Given the description of an element on the screen output the (x, y) to click on. 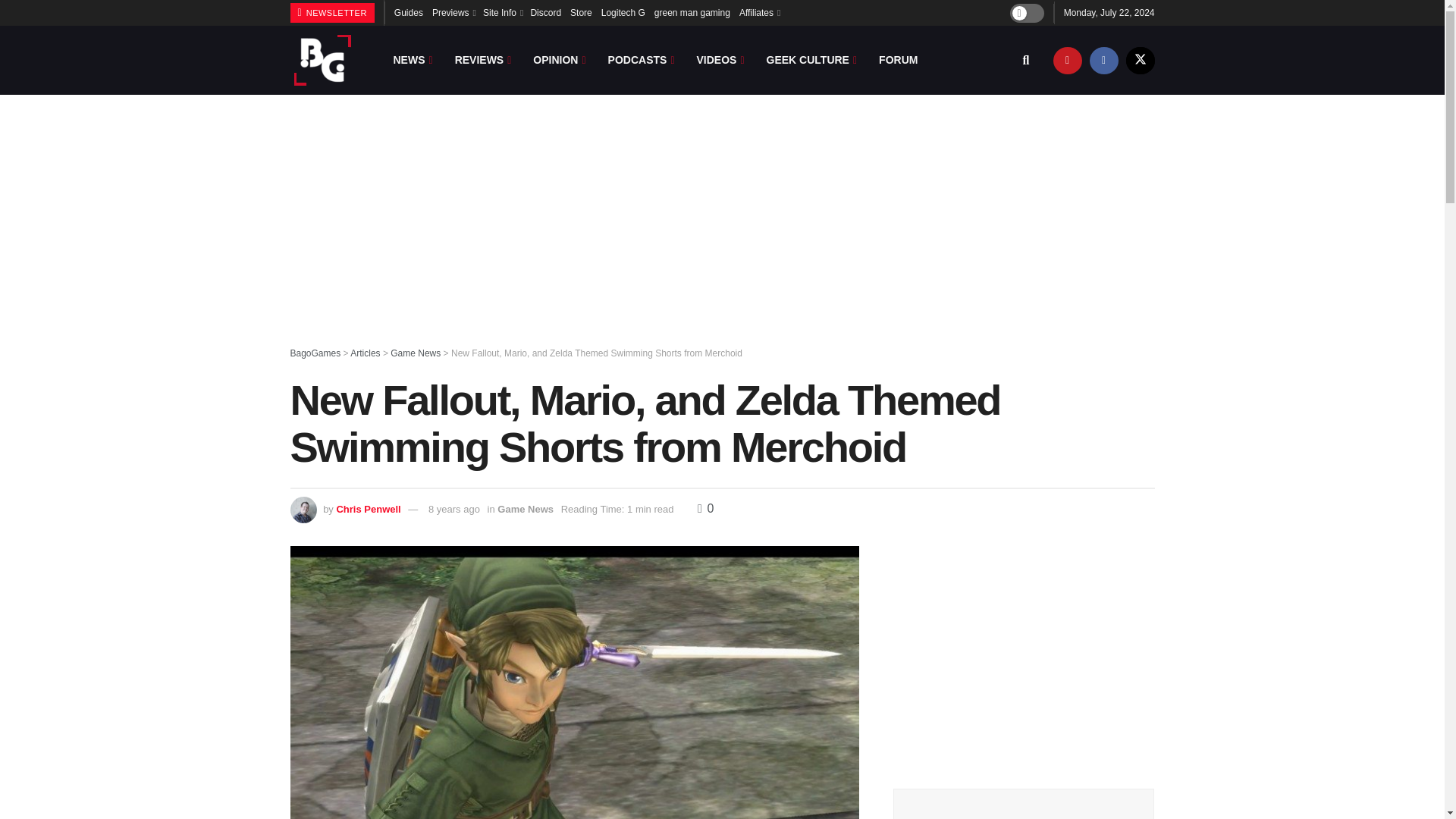
Guides (408, 12)
Previews (453, 12)
Affiliates (758, 12)
Go to BagoGames. (314, 353)
Go to Articles. (365, 353)
NEWSLETTER (331, 12)
Logitech G (623, 12)
Discord (544, 12)
Go to the Game News Category archives. (415, 353)
green man gaming (691, 12)
Site Info (502, 12)
